Given the description of an element on the screen output the (x, y) to click on. 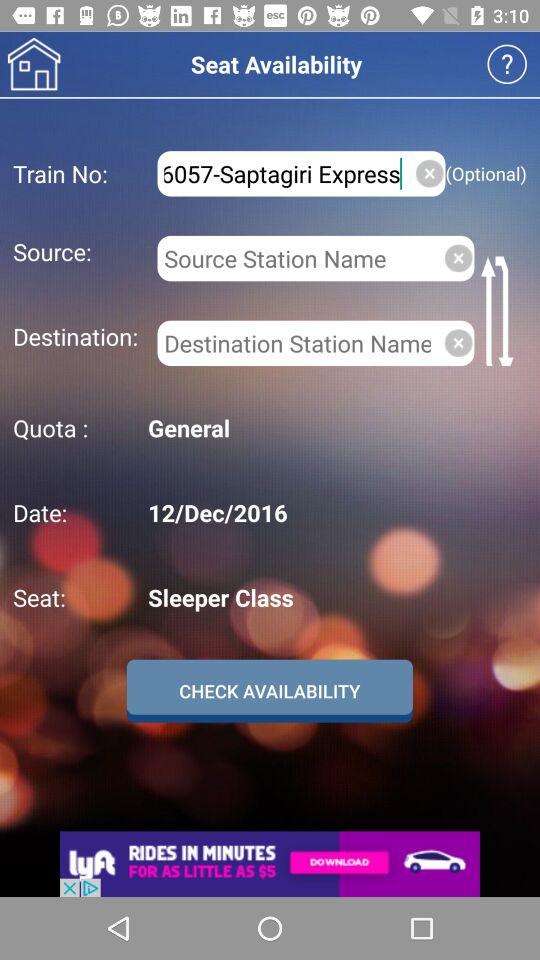
clear train no field (429, 173)
